Given the description of an element on the screen output the (x, y) to click on. 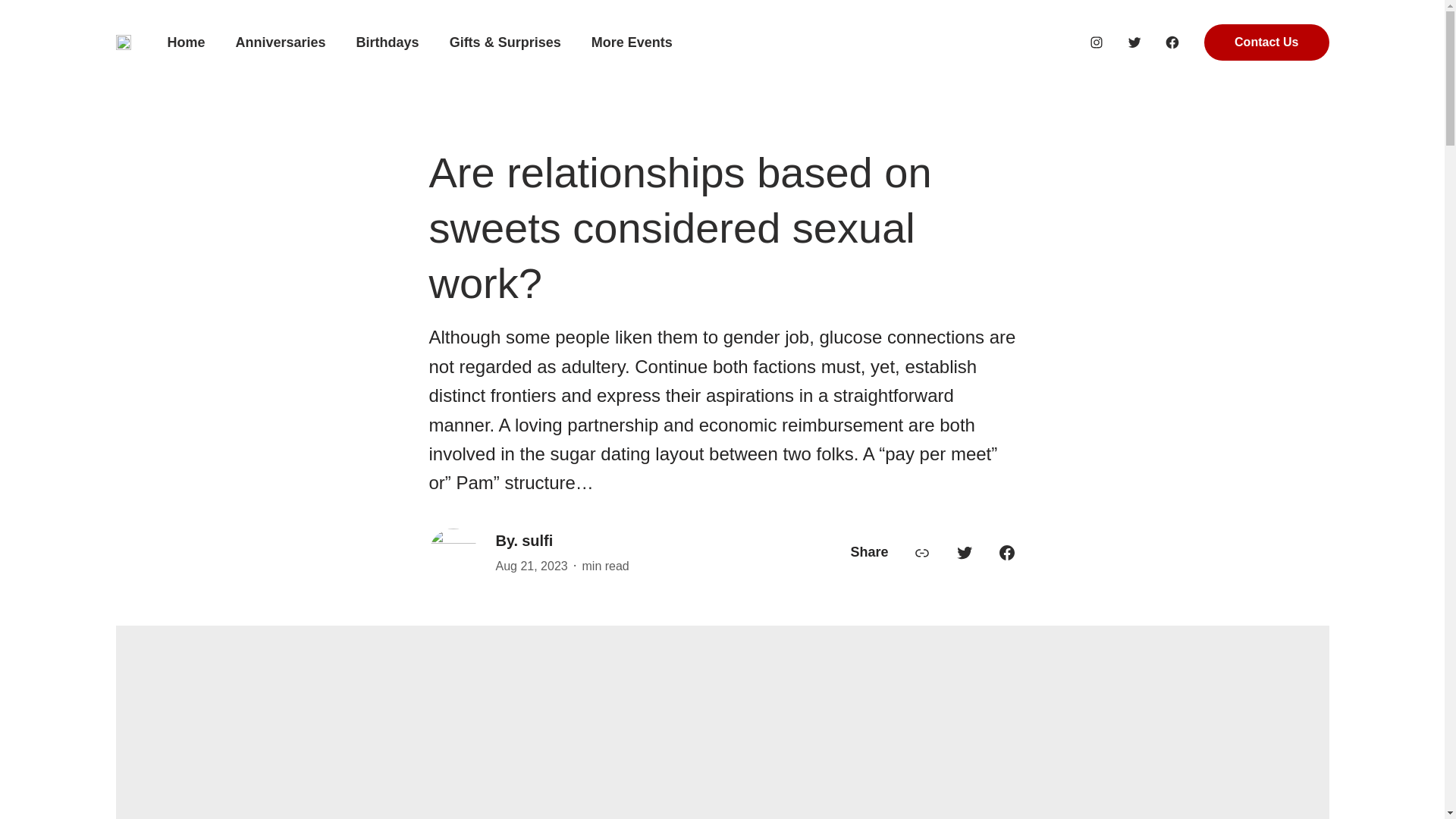
Twitter (1133, 42)
Birthdays (387, 42)
Twitter (964, 552)
Facebook (1171, 42)
Contact Us (1265, 42)
Link (921, 552)
Anniversaries (280, 42)
Home (186, 42)
Instagram (1096, 42)
Facebook (1006, 552)
More Events (631, 42)
